Given the description of an element on the screen output the (x, y) to click on. 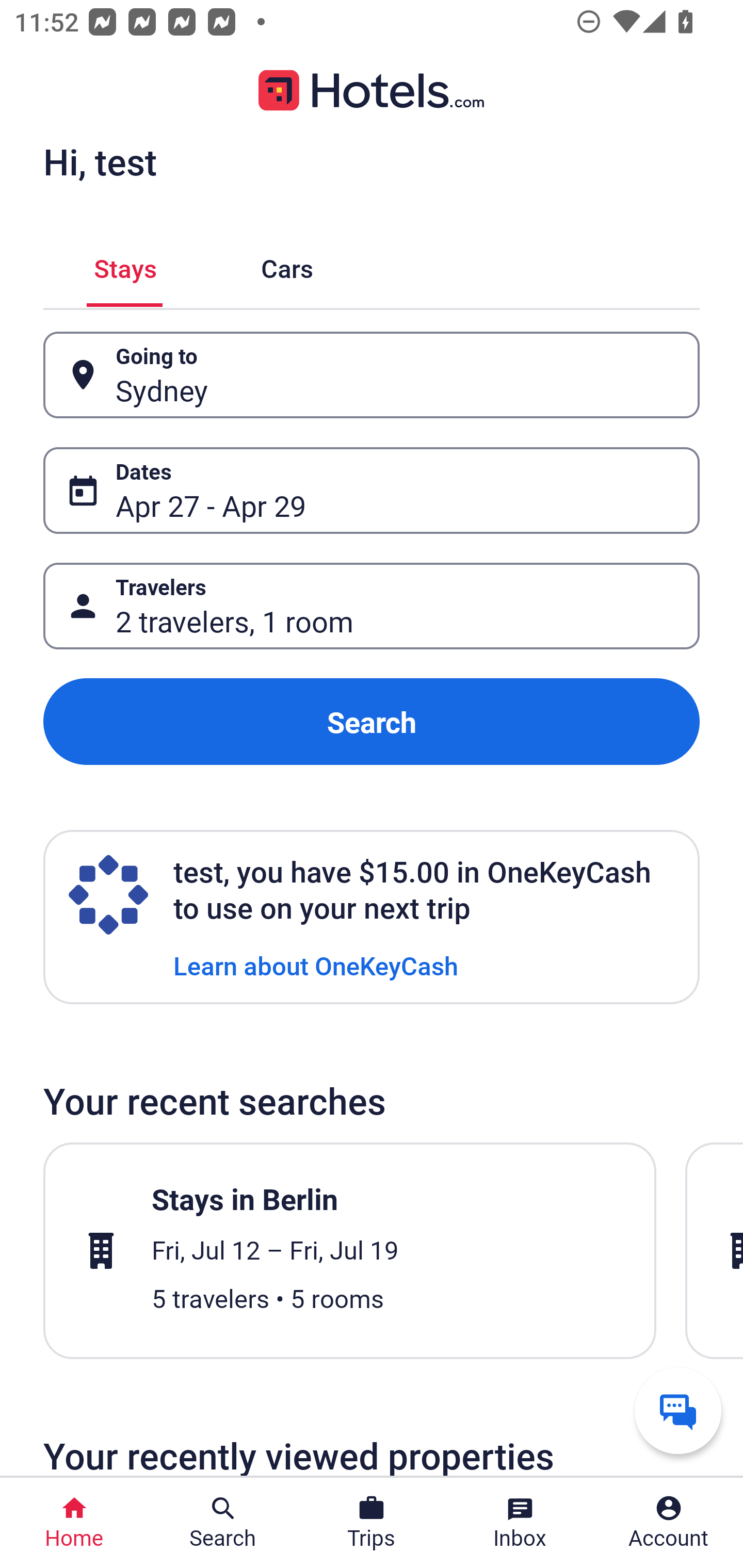
Hi, test (99, 161)
Cars (286, 265)
Going to Button Sydney (371, 375)
Dates Button Apr 27 - Apr 29 (371, 489)
Travelers Button 2 travelers, 1 room (371, 605)
Search (371, 721)
Learn about OneKeyCash Learn about OneKeyCash Link (315, 964)
Get help from a virtual agent (677, 1410)
Search Search Button (222, 1522)
Trips Trips Button (371, 1522)
Inbox Inbox Button (519, 1522)
Account Profile. Button (668, 1522)
